Given the description of an element on the screen output the (x, y) to click on. 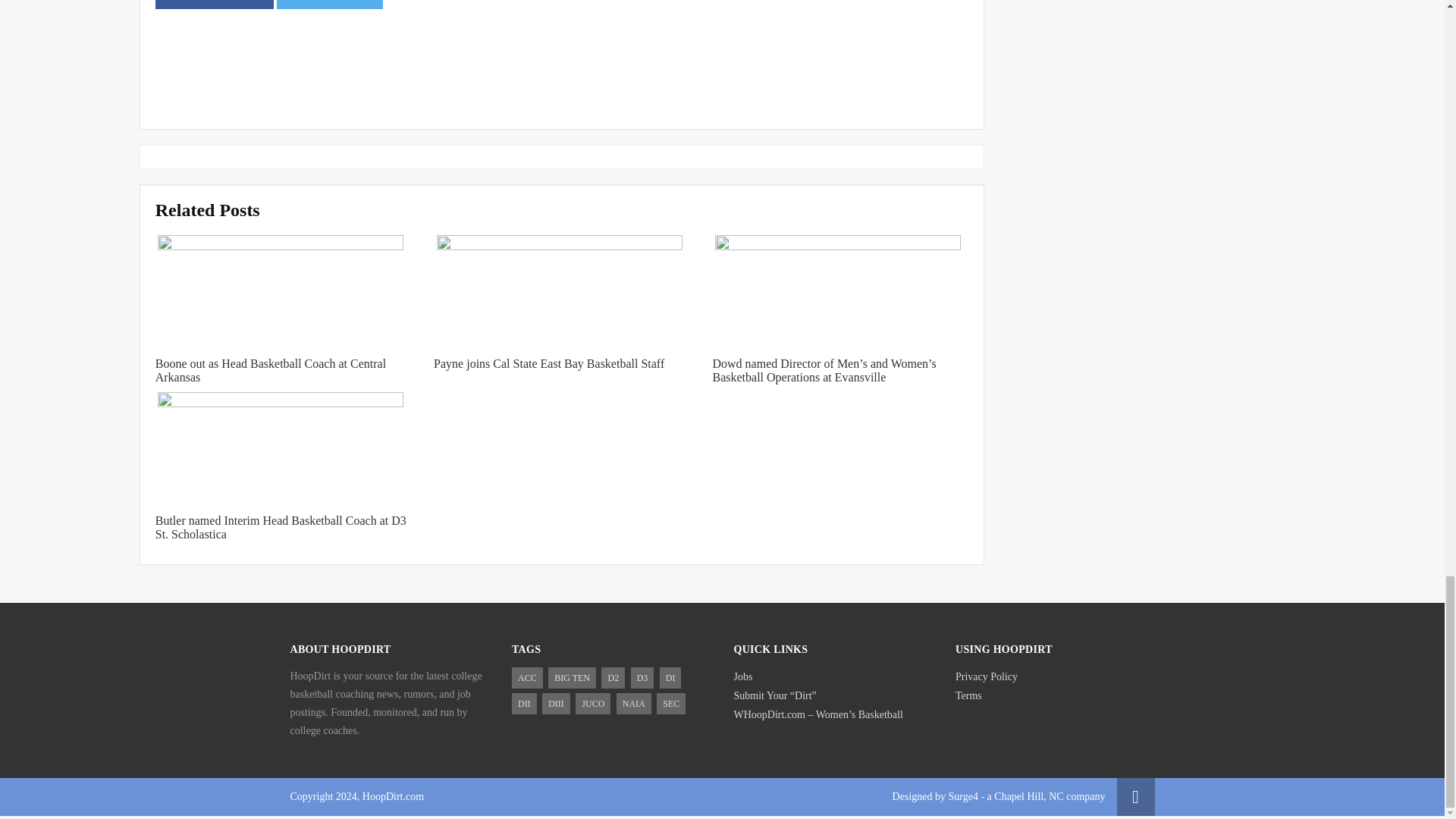
Payne joins Cal State East Bay Basketball Staff (548, 363)
Boone out as Head Basketball Coach at Central Arkansas (270, 370)
Share on Twitter (329, 4)
Share on Facebook (214, 4)
